Given the description of an element on the screen output the (x, y) to click on. 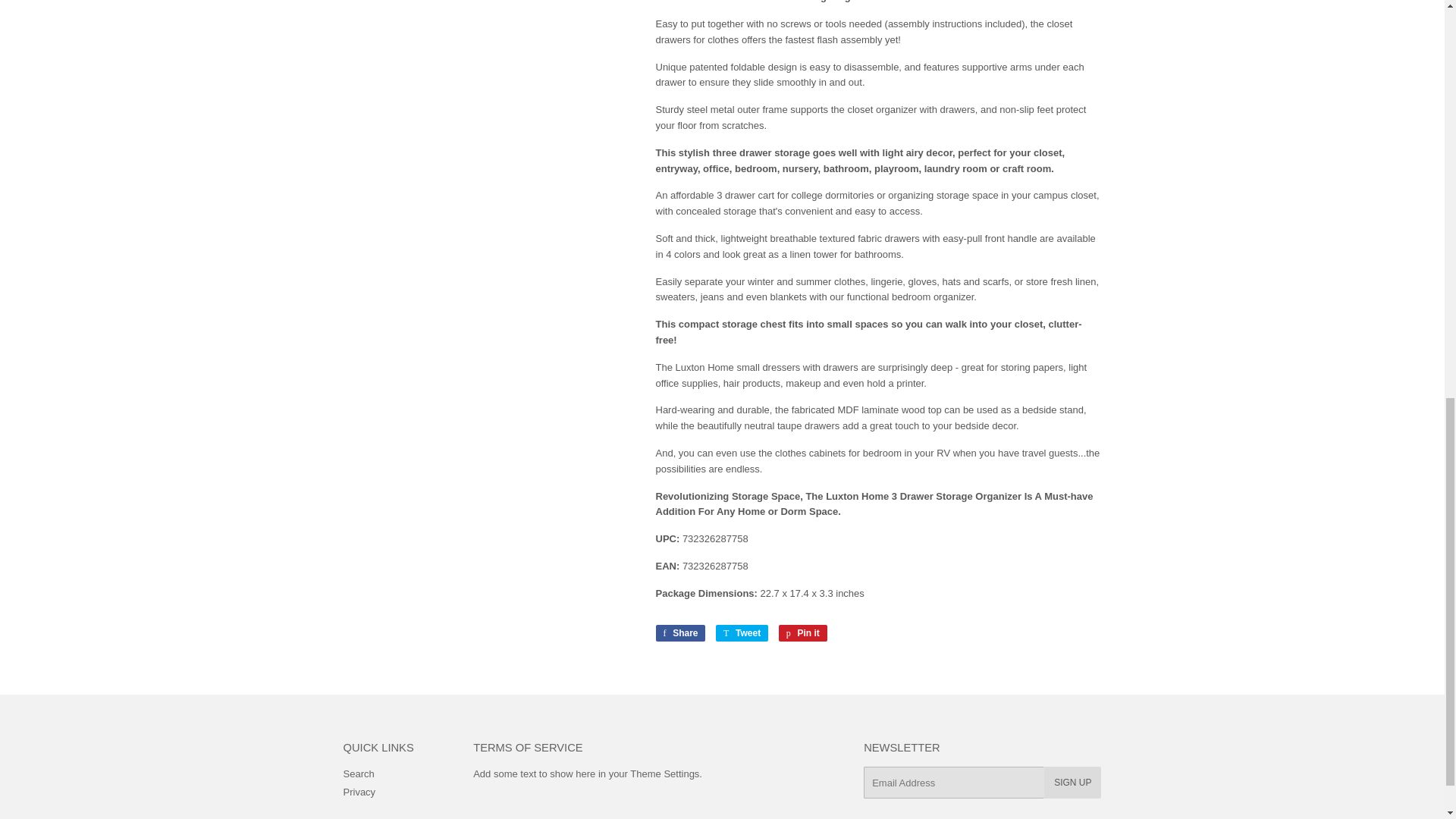
SIGN UP (679, 632)
Tweet on Twitter (1071, 782)
Search (802, 632)
Share on Facebook (742, 632)
Privacy (358, 773)
Theme Settings (679, 632)
Pin on Pinterest (358, 791)
